Given the description of an element on the screen output the (x, y) to click on. 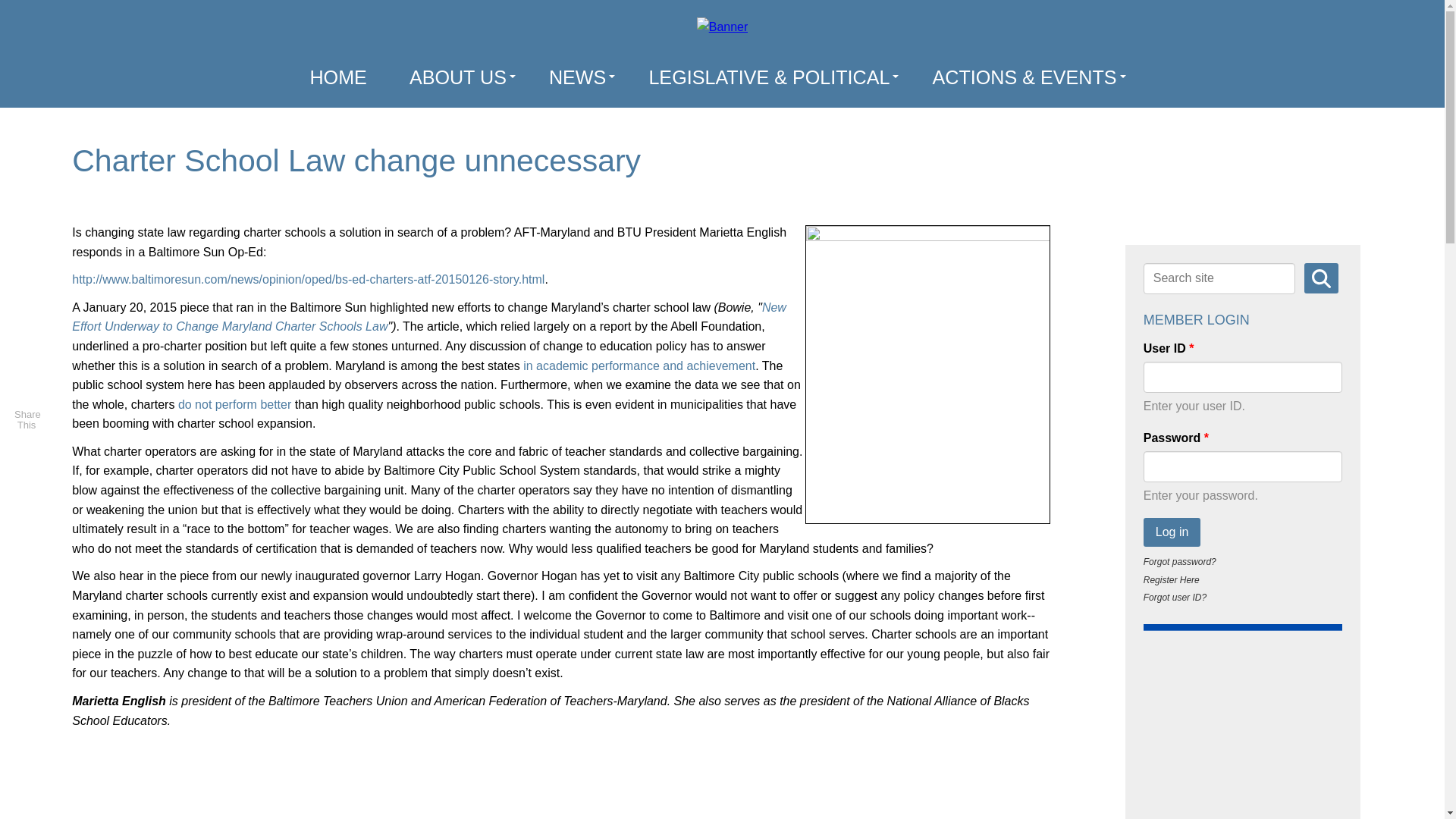
do not perform better (234, 404)
Forgot password? (1178, 561)
in academic performance and achievement (638, 365)
Register Here (1170, 579)
Log in (1171, 532)
Log in (1171, 532)
Forgot user ID? (1174, 597)
